Given the description of an element on the screen output the (x, y) to click on. 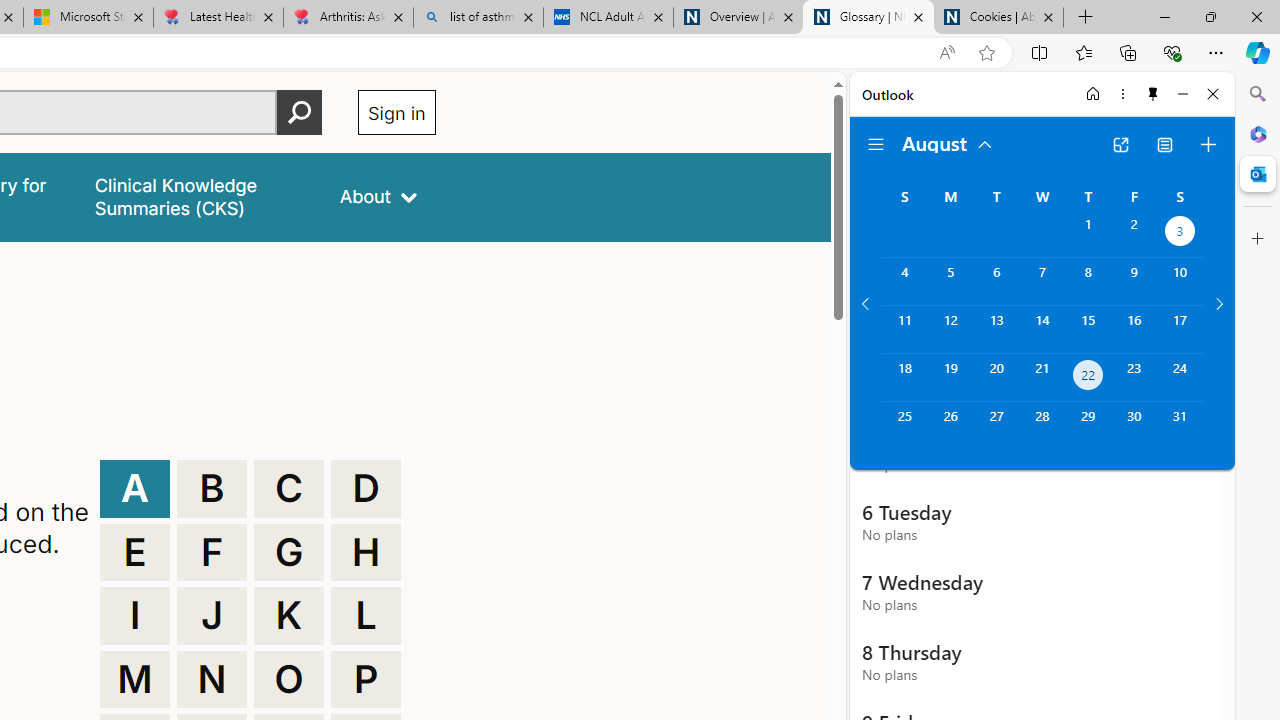
F (212, 551)
H (365, 551)
J (212, 615)
false (198, 196)
C (289, 488)
Perform search (299, 112)
A (134, 488)
Sunday, August 25, 2024.  (904, 425)
L (365, 615)
